Given the description of an element on the screen output the (x, y) to click on. 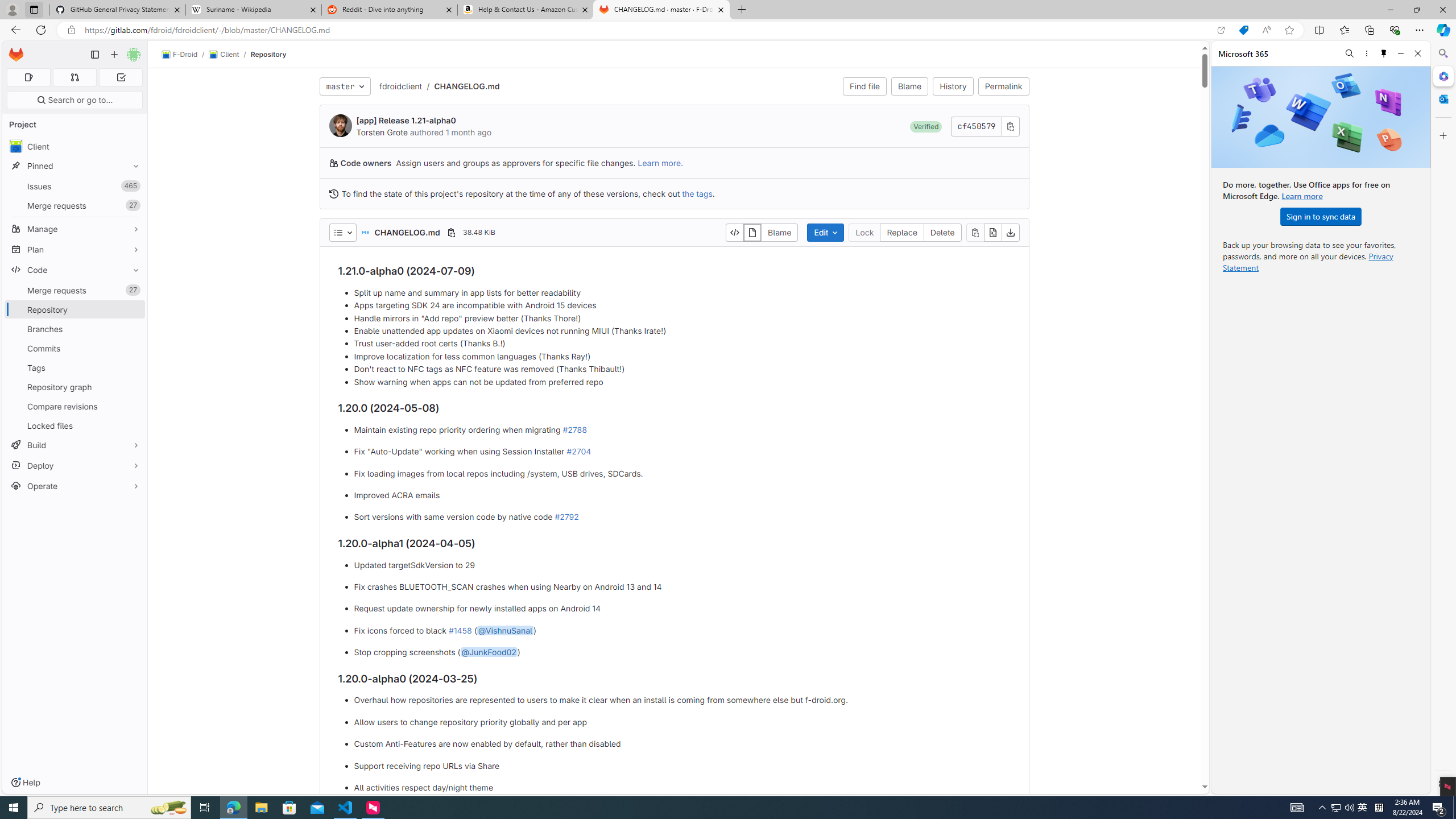
Operate (74, 485)
Pin Repository graph (132, 386)
Copy commit SHA (1010, 126)
Learn more. (659, 162)
Primary navigation sidebar (94, 54)
F-Droid (179, 54)
avatar Client (74, 145)
Open raw (991, 232)
Blame (909, 85)
